Given the description of an element on the screen output the (x, y) to click on. 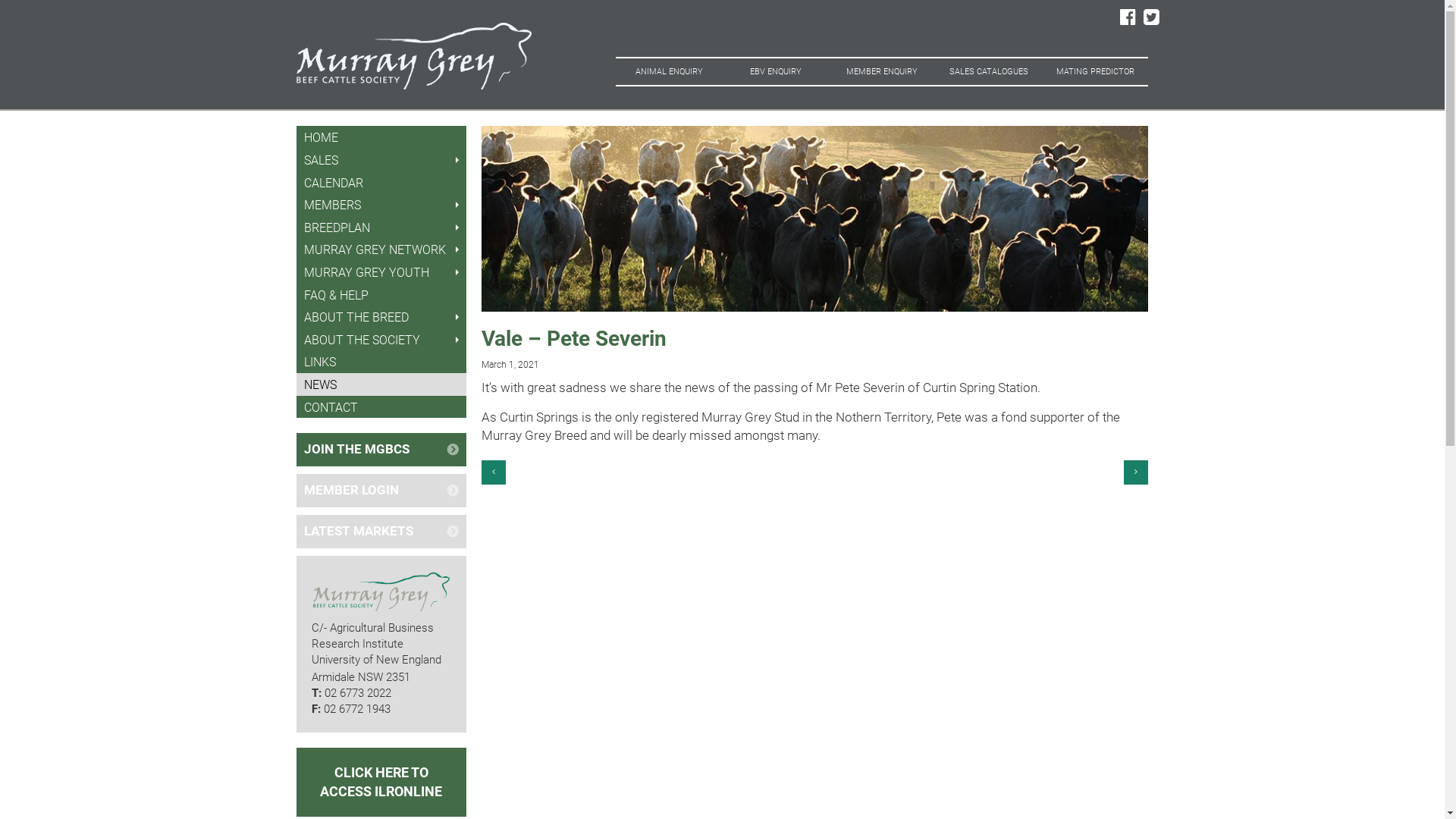
EBV ENQUIRY Element type: text (774, 71)
FAQ & HELP Element type: text (381, 294)
LINKS Element type: text (381, 361)
MEMBER LOGIN Element type: text (381, 490)
SALES Element type: text (381, 159)
NEWS Element type: text (381, 384)
JOIN THE MGBCS Element type: text (381, 449)
MEMBER ENQUIRY Element type: text (881, 71)
ANIMAL ENQUIRY Element type: text (668, 71)
CONTACT Element type: text (381, 406)
BREEDPLAN Element type: text (381, 227)
MURRAY GREY YOUTH Element type: text (381, 271)
CLICK HERE TO ACCESS ILRONLINE Element type: text (381, 781)
ABOUT THE BREED Element type: text (381, 316)
MEMBERS Element type: text (381, 204)
MURRAY GREY NETWORK Element type: text (381, 249)
HOME Element type: text (381, 136)
MATING PREDICTOR Element type: text (1094, 71)
LATEST MARKETS Element type: text (381, 531)
SALES CATALOGUES Element type: text (988, 71)
ABOUT THE SOCIETY Element type: text (381, 339)
CALENDAR Element type: text (381, 182)
